Given the description of an element on the screen output the (x, y) to click on. 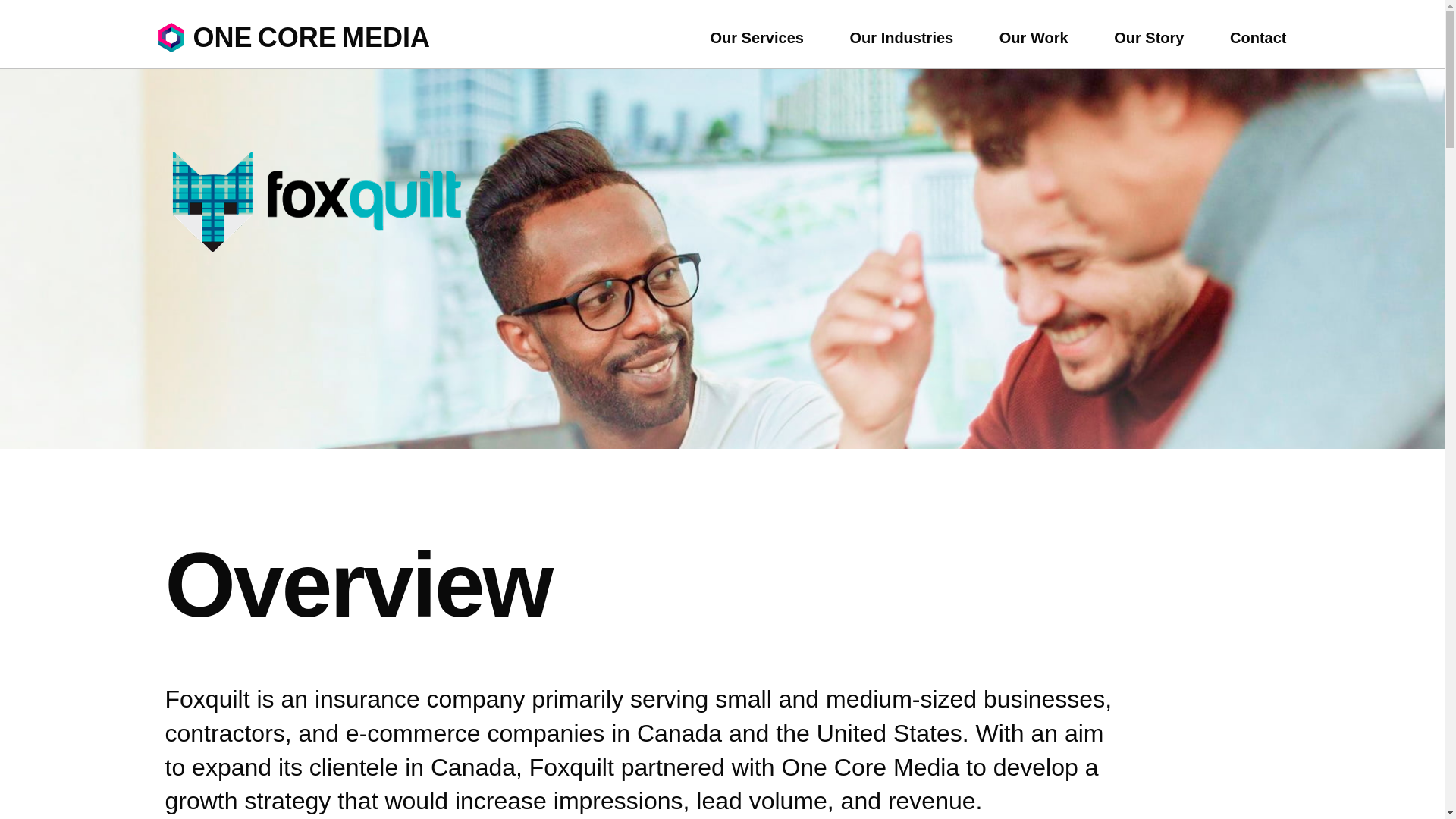
Our Services (247, 37)
Contact (756, 37)
Our Story (1257, 37)
Our Work (1148, 37)
Our Industries (1033, 37)
